Given the description of an element on the screen output the (x, y) to click on. 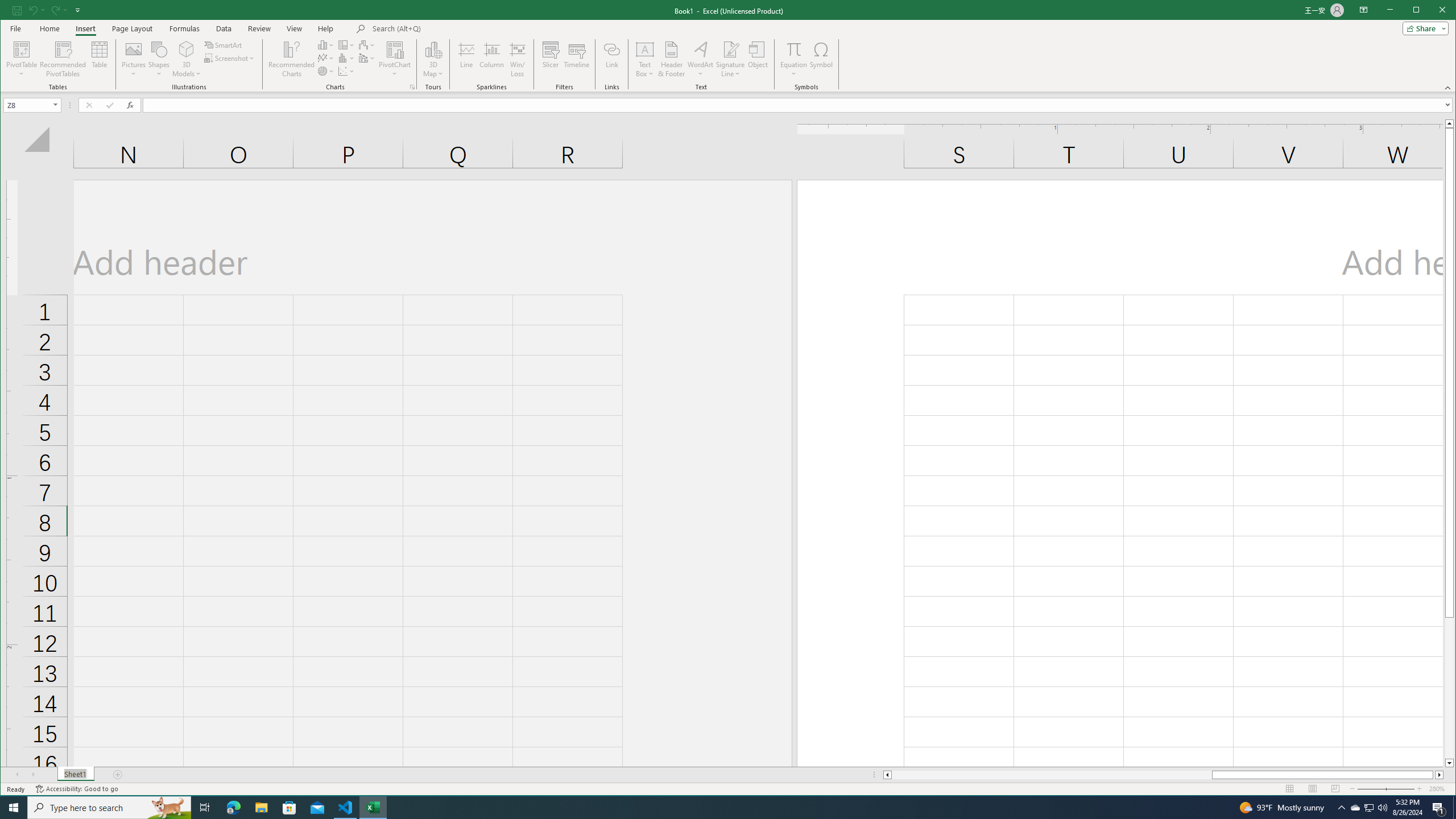
Pictures (133, 59)
Task View (204, 807)
3D Map (432, 48)
PivotChart (394, 48)
Sheet Tab (75, 774)
WordArt (699, 59)
SmartArt... (224, 44)
User Promoted Notification Area (1368, 807)
Table (99, 59)
Timeline (576, 59)
